Given the description of an element on the screen output the (x, y) to click on. 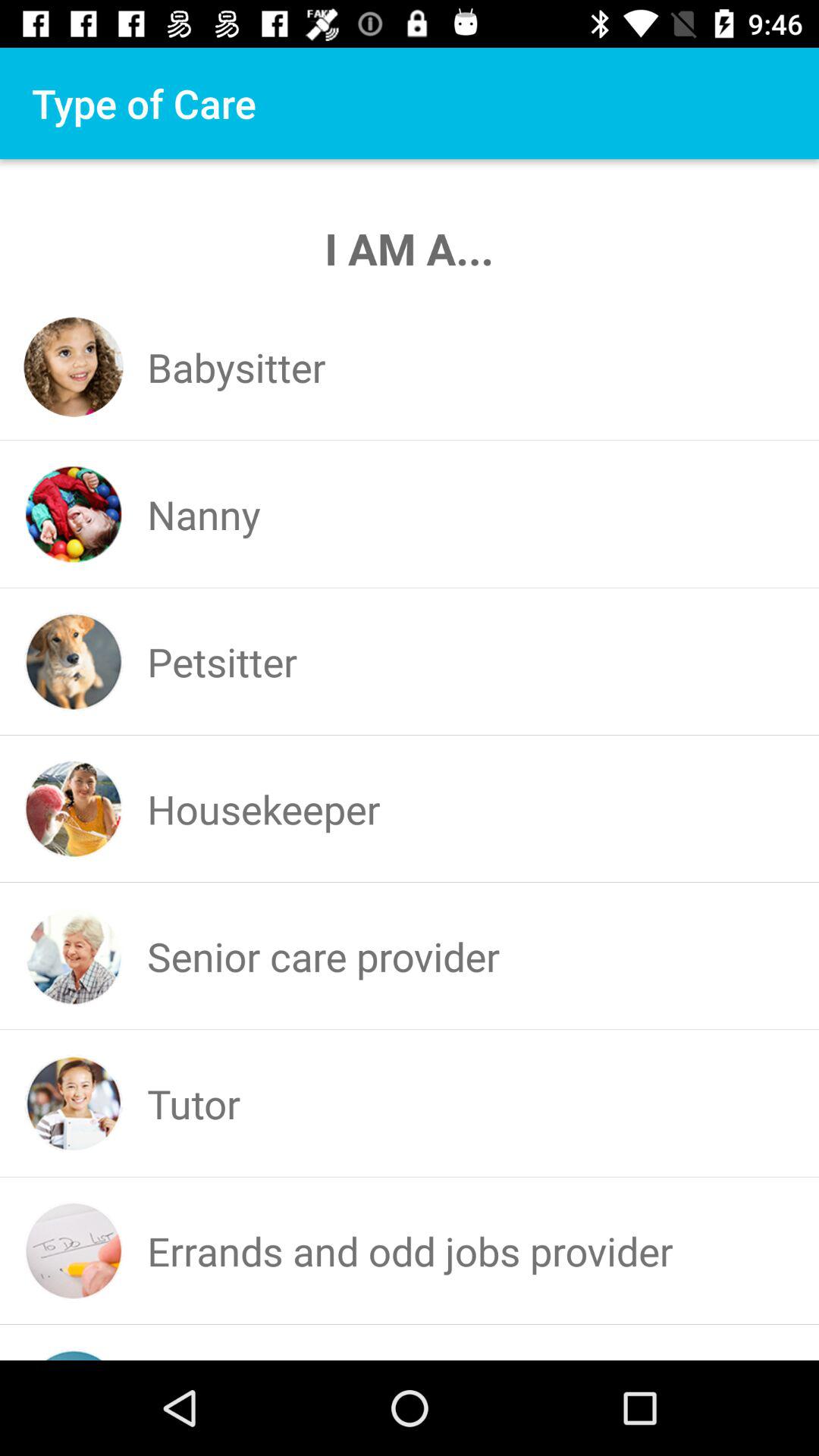
press item below the i am a... (236, 366)
